Given the description of an element on the screen output the (x, y) to click on. 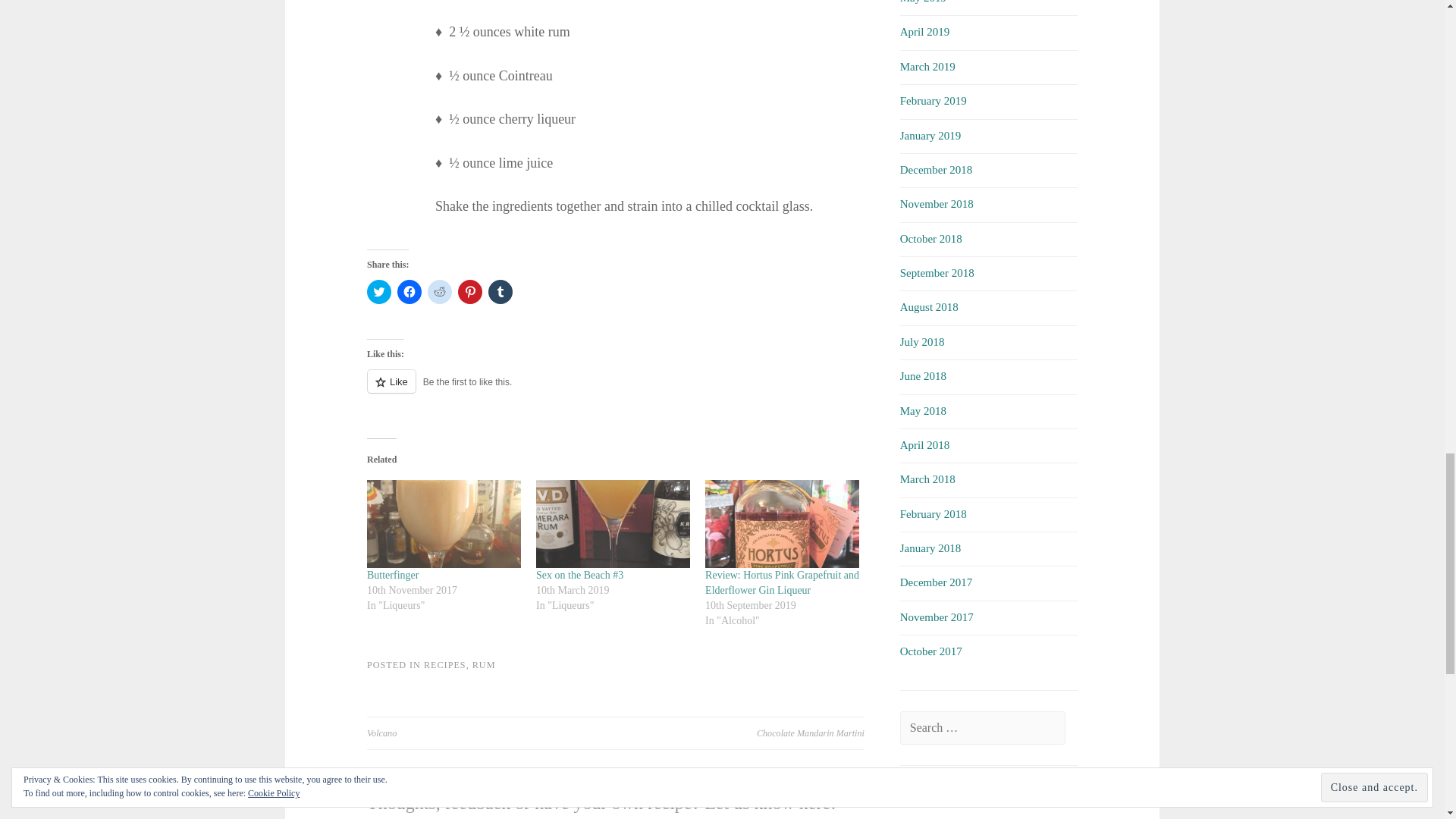
Review: Hortus Pink Grapefruit and Elderflower Gin Liqueur (781, 582)
Click to share on Pinterest (469, 291)
Click to share on Reddit (439, 291)
Click to share on Twitter (378, 291)
Butterfinger (392, 574)
Butterfinger (392, 574)
Like or Reblog (615, 390)
Butterfinger (443, 523)
Review: Hortus Pink Grapefruit and Elderflower Gin Liqueur (781, 523)
Click to share on Facebook (409, 291)
